Given the description of an element on the screen output the (x, y) to click on. 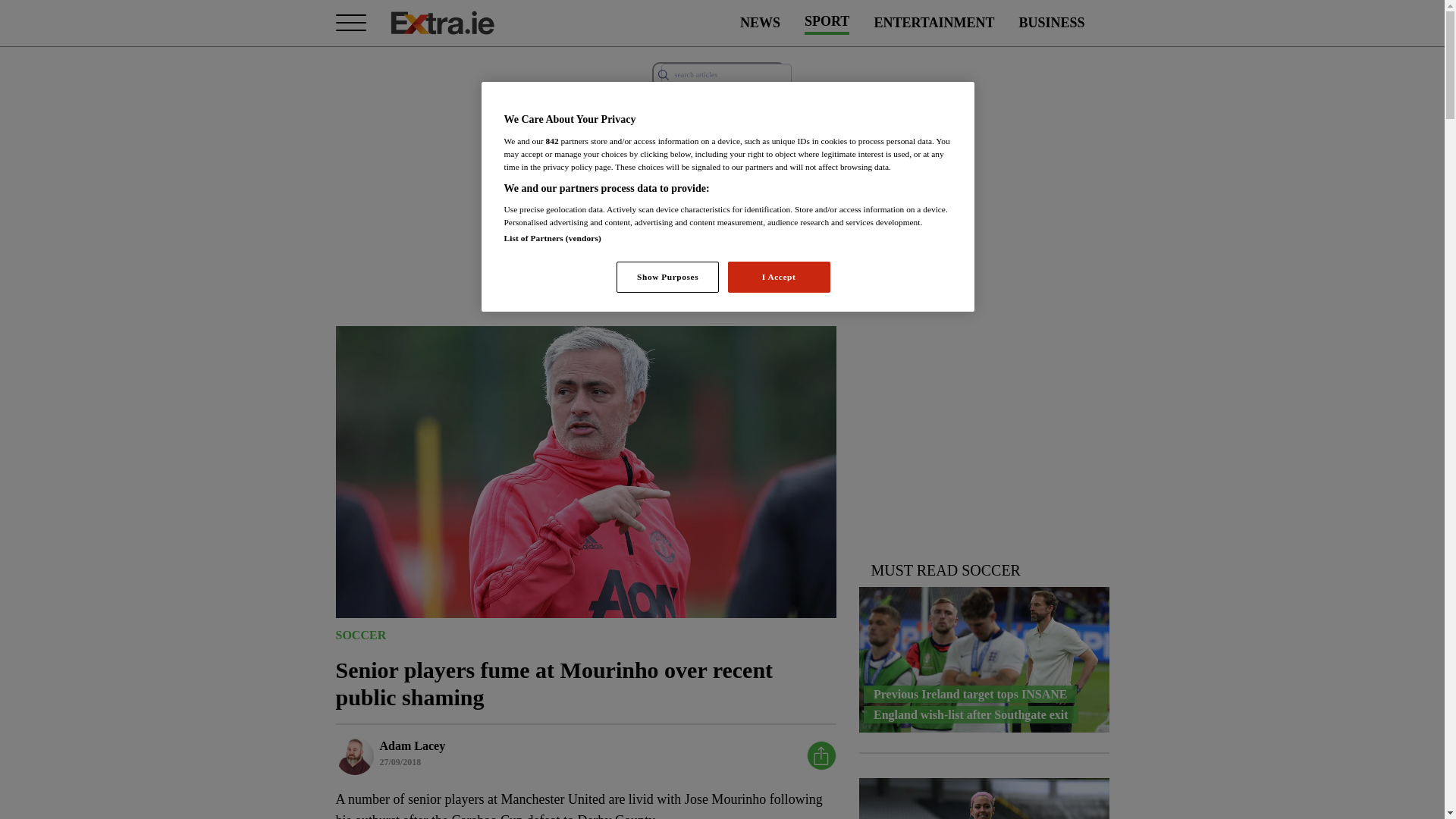
Adam Lacey (411, 744)
Submit the search query (662, 73)
SPORT (826, 23)
ENTERTAINMENT (933, 23)
BUSINESS (1050, 23)
SOCCER (359, 634)
NEWS (759, 23)
